Given the description of an element on the screen output the (x, y) to click on. 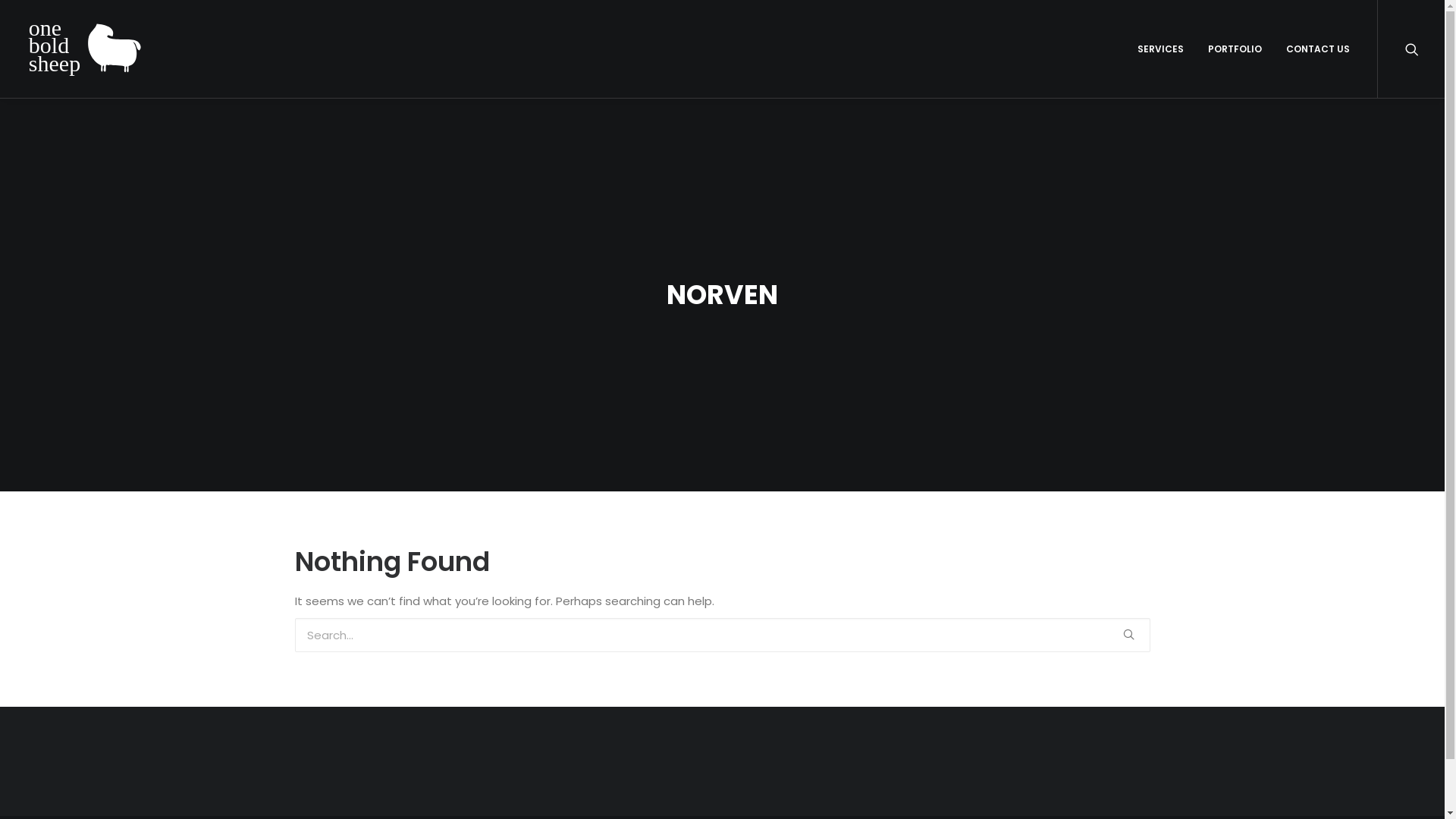
SERVICES Element type: text (1160, 48)
CONTACT US Element type: text (1312, 48)
PORTFOLIO Element type: text (1233, 48)
Search for: Element type: hover (721, 635)
